Given the description of an element on the screen output the (x, y) to click on. 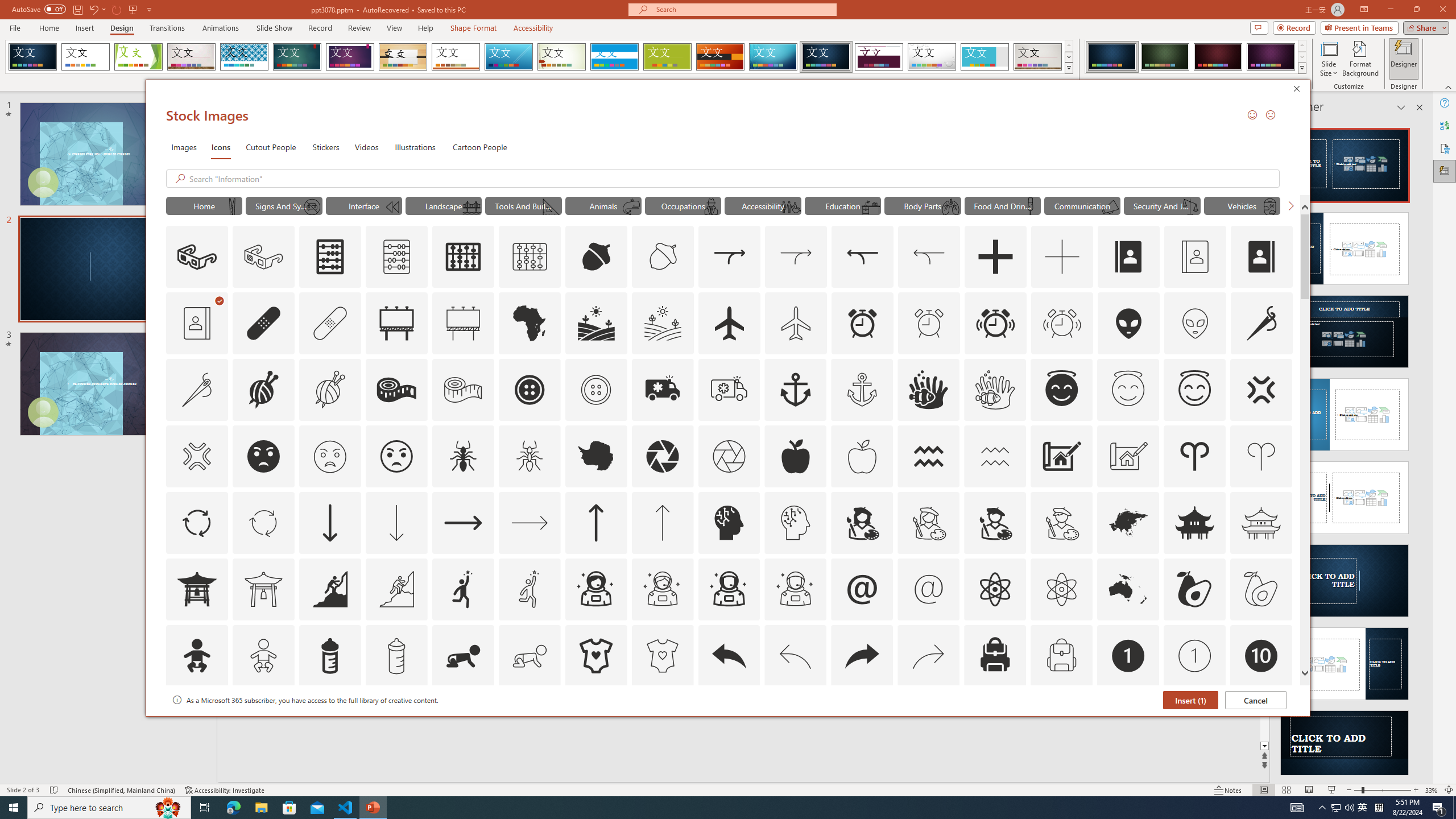
Office Theme (85, 56)
AutomationID: Icons_AngelFace_M (1128, 389)
AutomationID: Icons_Badge9 (1194, 721)
Send a Smile (1251, 114)
AutomationID: Icons_Abacus_M (397, 256)
AutomationID: Icons_Apple (795, 455)
